Given the description of an element on the screen output the (x, y) to click on. 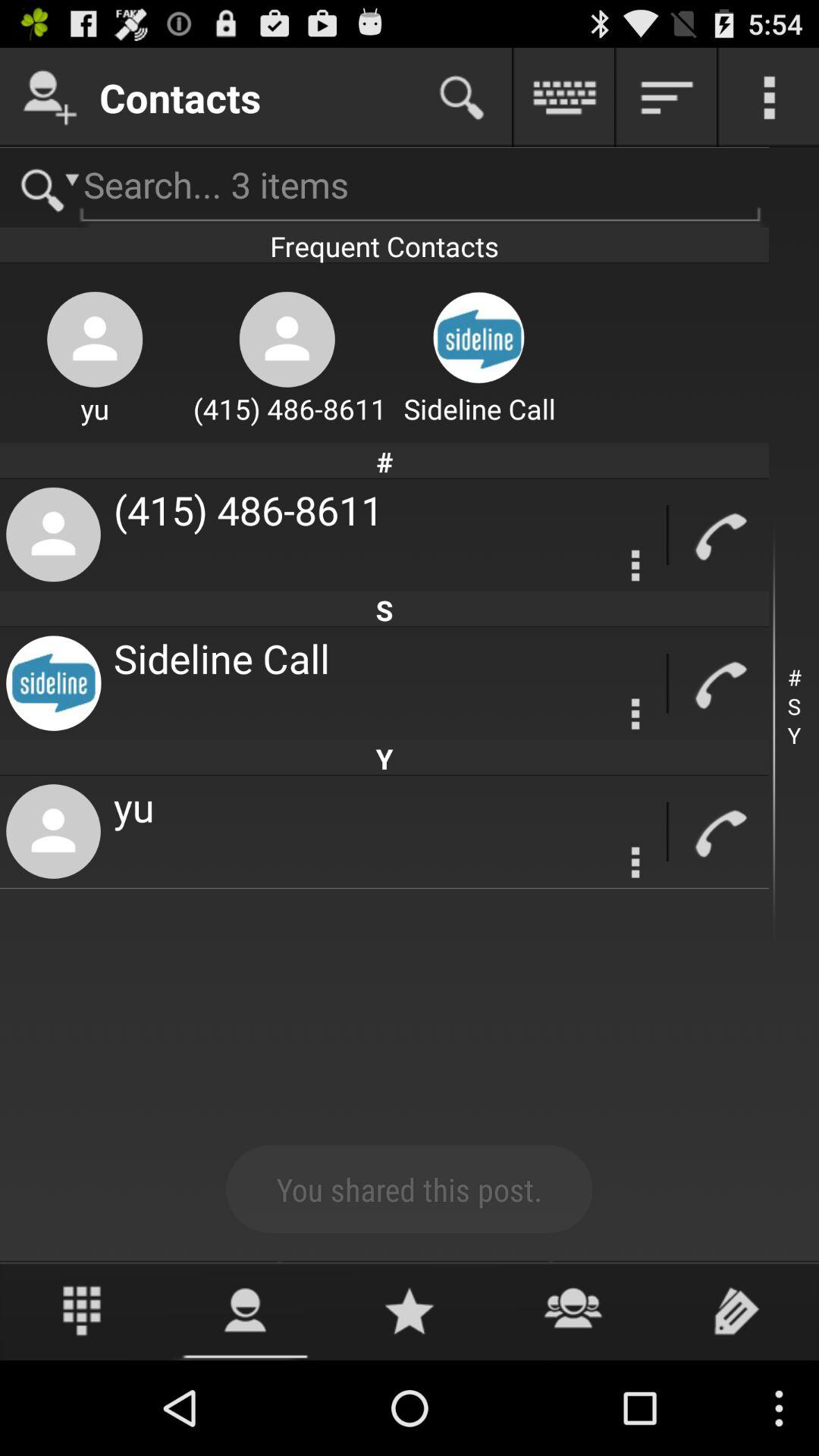
call (718, 534)
